Given the description of an element on the screen output the (x, y) to click on. 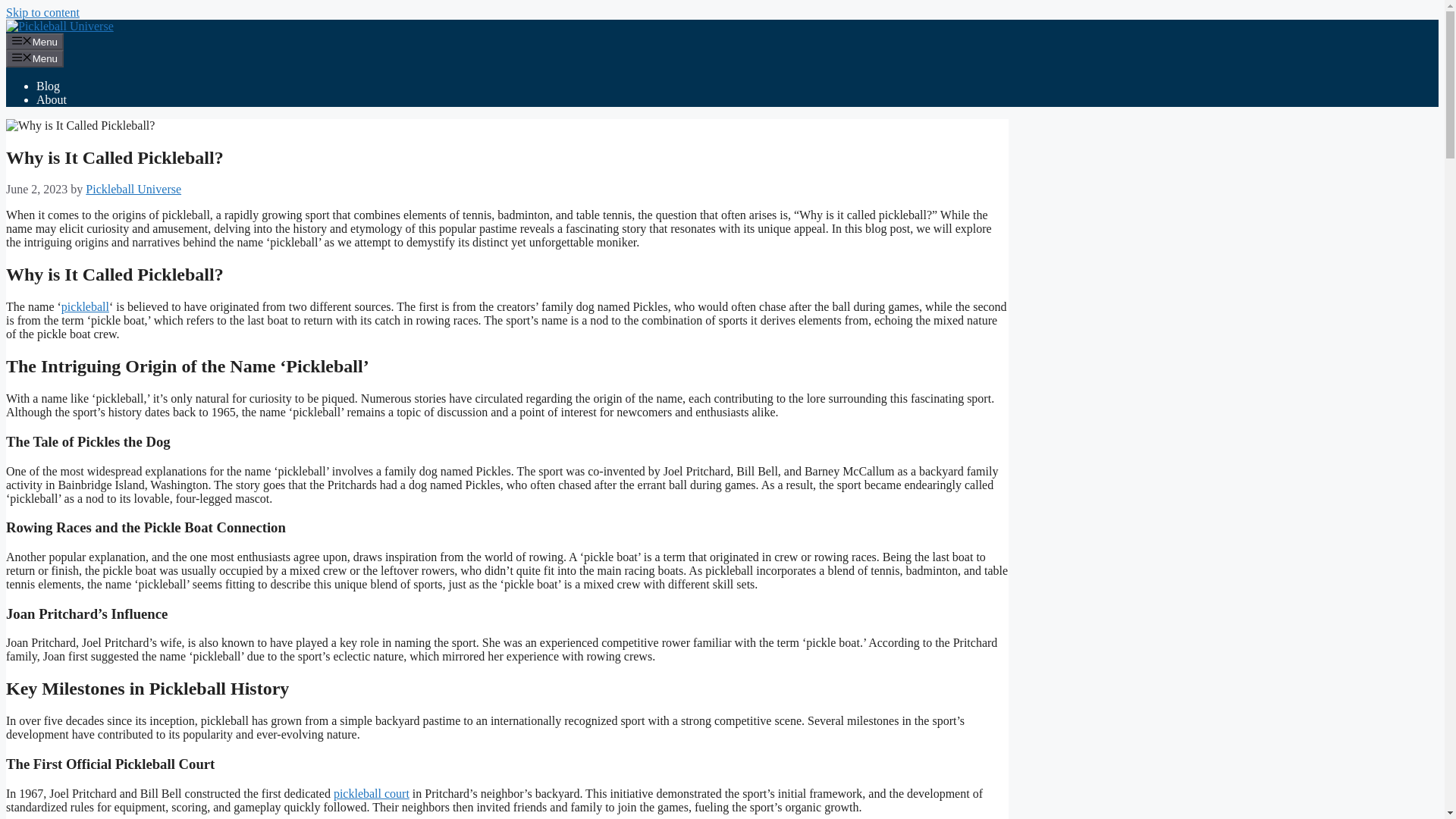
Skip to content (42, 11)
Blog (47, 85)
View all posts by Pickleball Universe (132, 188)
Menu (34, 57)
Skip to content (42, 11)
pickleball court (371, 793)
Menu (34, 41)
Pickleball Universe (132, 188)
About (51, 99)
pickleball (85, 306)
pickleball court (371, 793)
